Given the description of an element on the screen output the (x, y) to click on. 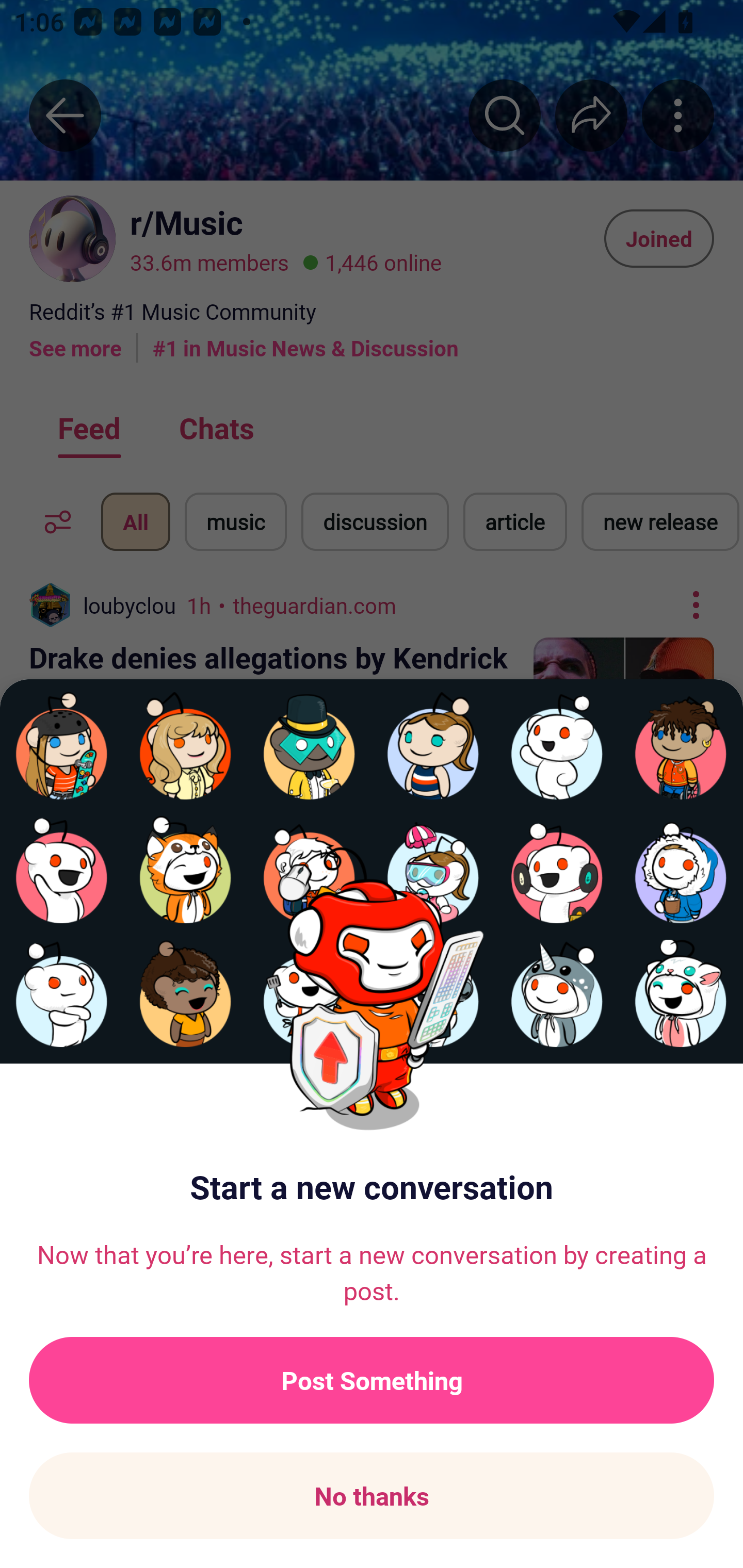
Post Something (371, 1380)
No thanks (371, 1495)
